Given the description of an element on the screen output the (x, y) to click on. 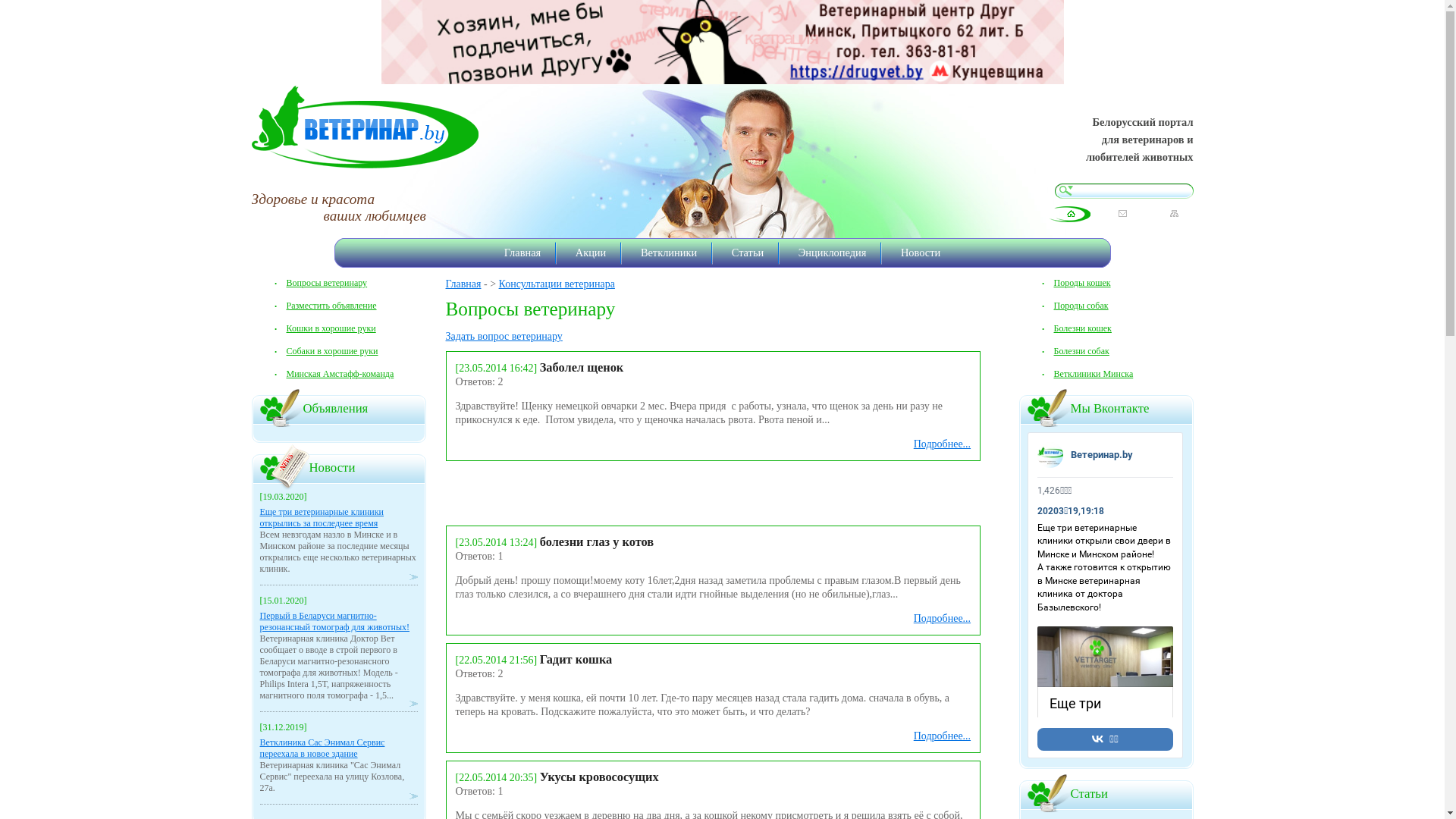
Advertisement Element type: hover (622, 491)
